Given the description of an element on the screen output the (x, y) to click on. 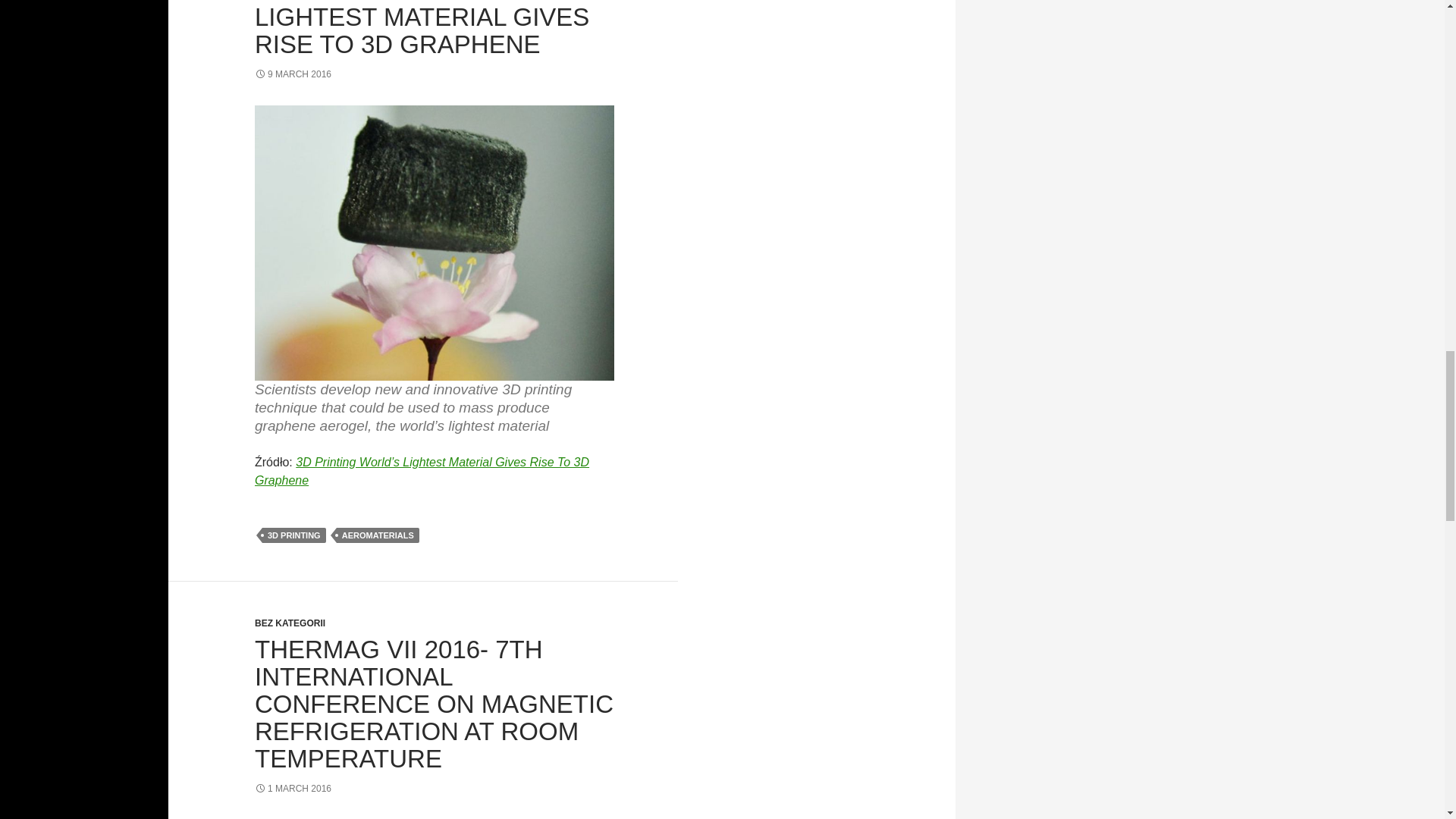
AEROMATERIALS (377, 534)
BEZ KATEGORII (289, 623)
1 MARCH 2016 (292, 787)
9 MARCH 2016 (292, 73)
3D PRINTING (294, 534)
